Given the description of an element on the screen output the (x, y) to click on. 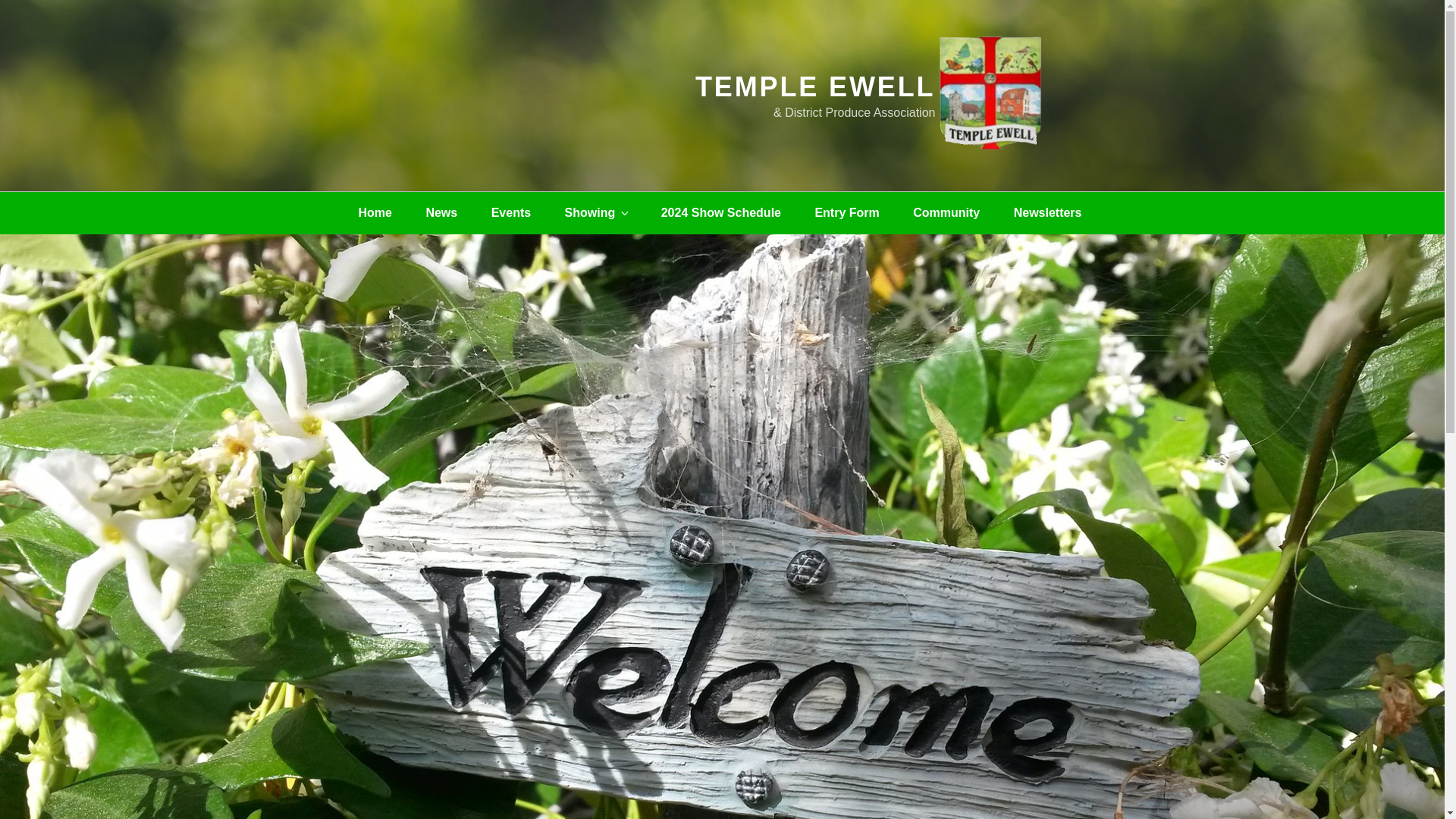
Showing (596, 212)
Entry Form (846, 212)
2024 Show Schedule (721, 212)
TEMPLE EWELL (815, 86)
Events (511, 212)
News (440, 212)
Home (374, 212)
Newsletters (1047, 212)
Community (946, 212)
